Given the description of an element on the screen output the (x, y) to click on. 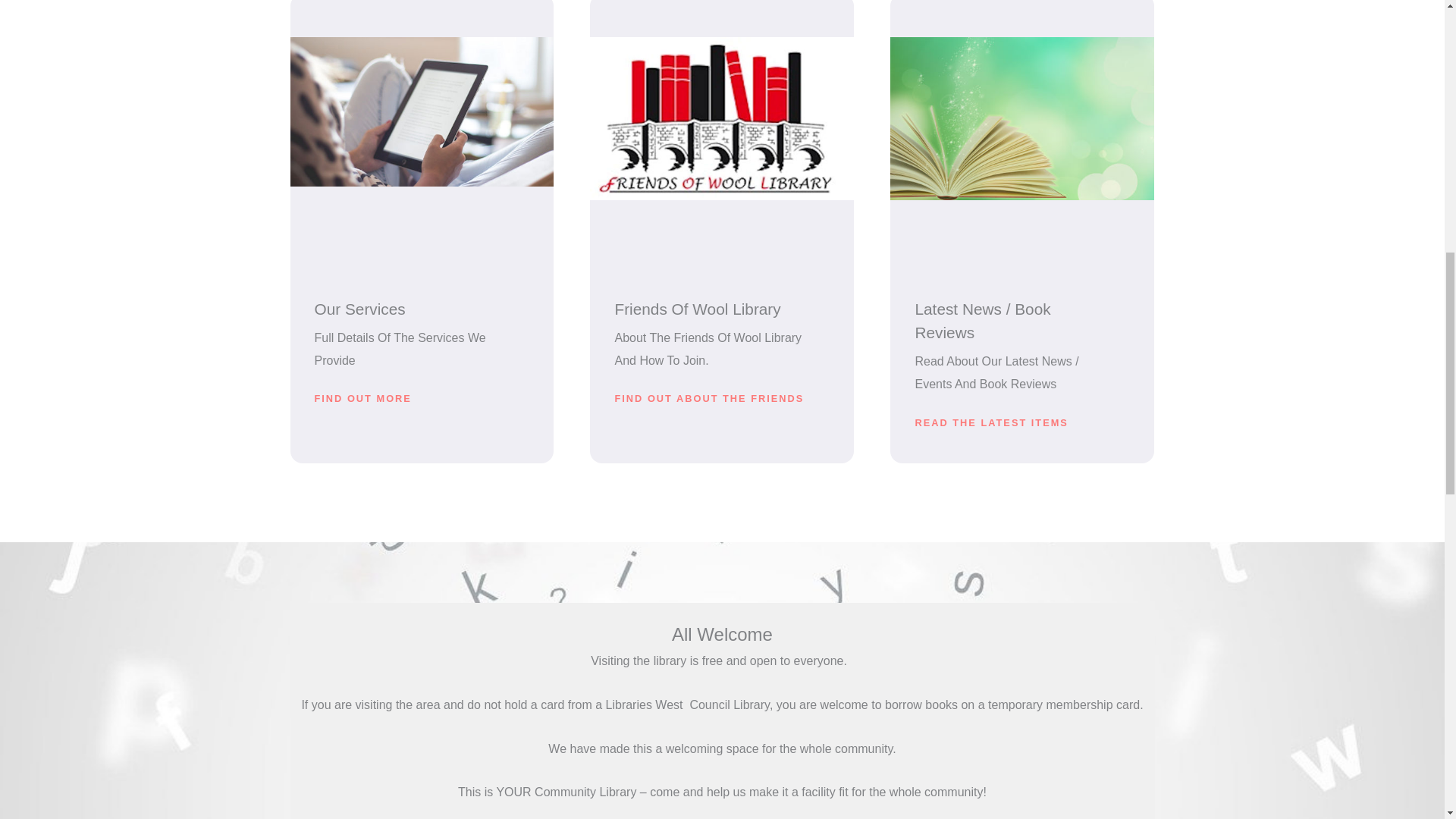
READ THE LATEST ITEMS (990, 423)
FIND OUT MORE (362, 398)
FIND OUT ABOUT THE FRIENDS (708, 398)
